Given the description of an element on the screen output the (x, y) to click on. 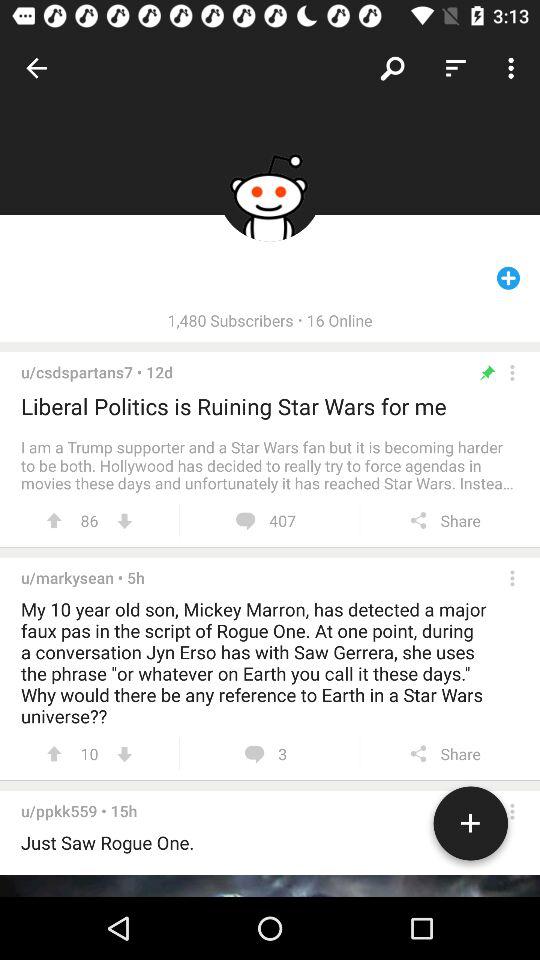
open settings (512, 578)
